Given the description of an element on the screen output the (x, y) to click on. 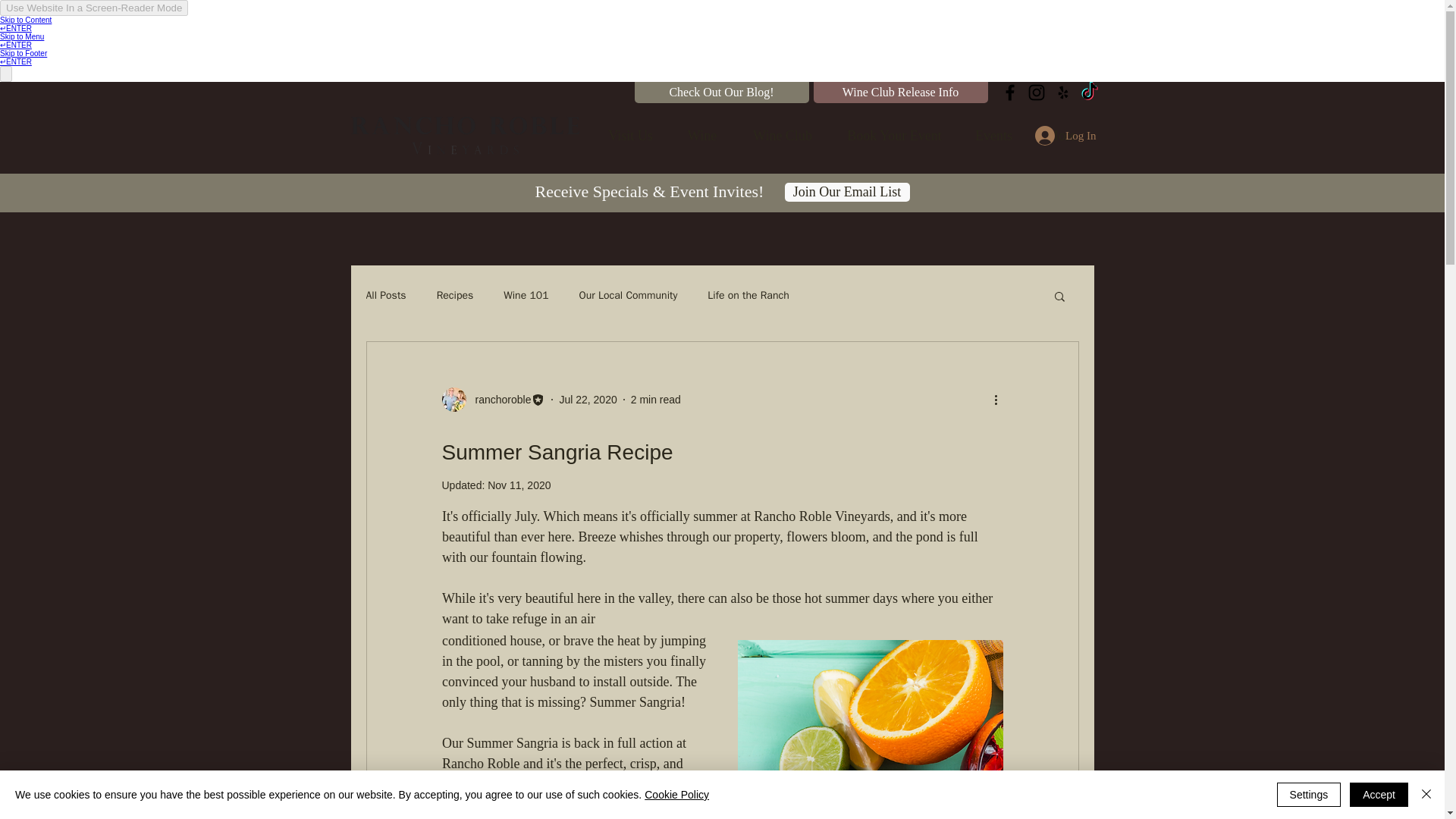
Events (993, 135)
Check Out Our Blog! (720, 92)
Life on the Ranch (748, 295)
Wine 101 (525, 295)
Nov 11, 2020 (518, 485)
Log In (1065, 135)
Wine Club (781, 135)
Book Your Event (894, 135)
Visit Us (630, 135)
Join Our Email List (846, 191)
Jul 22, 2020 (587, 398)
All Posts (385, 295)
ranchoroble (498, 399)
Wine Club Release Info (899, 92)
2 min read (655, 398)
